Given the description of an element on the screen output the (x, y) to click on. 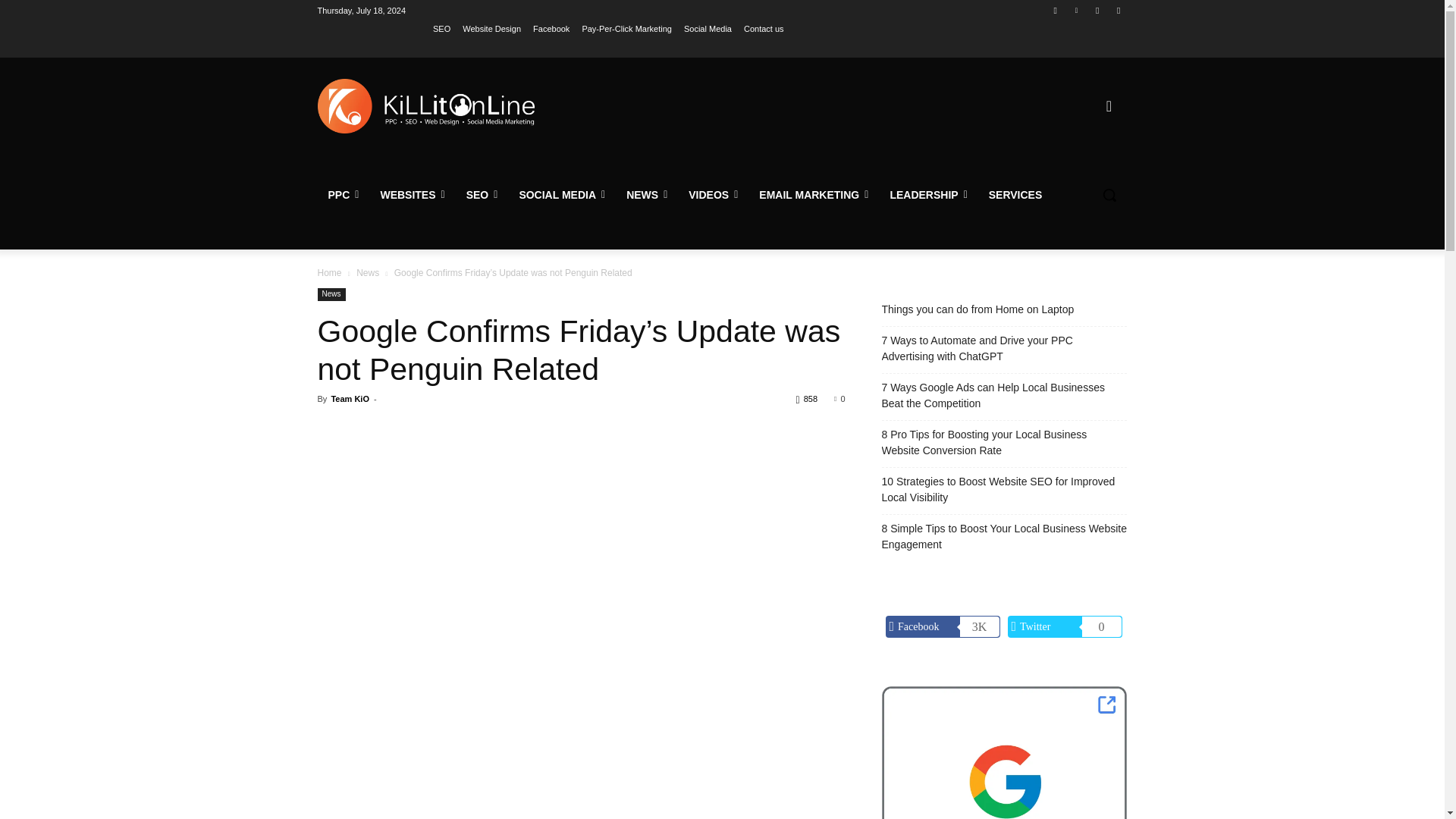
Facebook (550, 28)
Facebook (1055, 9)
Contact us (764, 28)
Youtube (1117, 9)
Pay-Per-Click Marketing (625, 28)
Social Media (708, 28)
Website Design (492, 28)
Linkedin (1075, 9)
Twitter (1097, 9)
